Given the description of an element on the screen output the (x, y) to click on. 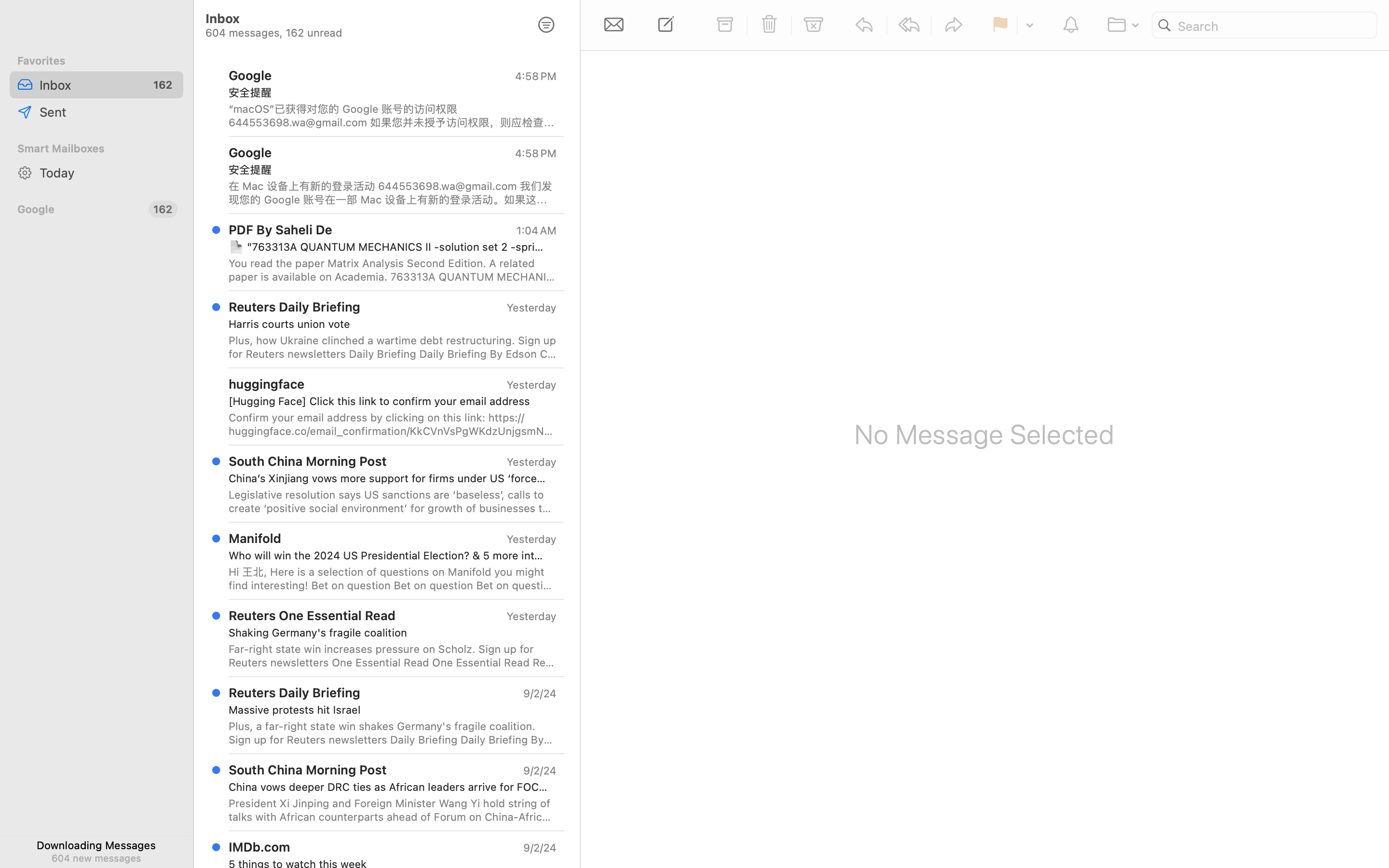
Inbox Element type: AXStaticText (360, 800)
Shaking Germany's fragile coalition Element type: AXStaticText (388, 632)
Legislative resolution says US sanctions are ‘baseless’, calls to create ‘positive social environment’ for growth of businesses targeted. - South China Morning Post, SCMP, SCMP Today: Intl Edition - Legislative resolution says US sanctions are ‘baseless’, calls to create ‘positive social environment’ for growth of businesses targeted. Tuesday 3rd September, 2024 China politics & diplomacy ChinaChina’s Xinjiang vows more support for firms under US ‘forced labour’ sanctions3 Sep, 2024 - 04:36 pmLegislative resolution says US sanctions are ‘baseless’, calls to create ‘positive social environment’ for growth of businesses targeted. China11 dead in eastern China, driver detained after bus hits crowd outside school3 Sep, 2024 - 04:43 pm ChinaChinese researchers’ implant genetically modifies brain cells for neuron growth3 Sep, 2024 - 04:06 pm Featured Podcast3. Millennials, GenZ and hire education Video Of The Day China and Singapore embark on bigger joint navy exercise as South China Sea ten Element type: AXStaticText (392, 501)
China vows deeper DRC ties as African leaders arrive for FOCAC meetings Element type: AXStaticText (388, 786)
Plus, how Ukraine clinched a wartime debt restructuring. Sign up for Reuters newsletters Daily Briefing Daily Briefing By Edson Caldas Kamala Harris said that US Steel should remain in domestic hands, making a pitch to working-class voters in Pennsylvania who are also being courted by her rival Donald Trump. Elsewhere, we cover Britain's partial suspension of arms export licenses to Israel, and a slump in Intel's share price. Plus, why South Korea's beloved Kimchi is at risk. Today's Top News Kamala Harris with Joe Biden's first appearance together at a rally since she became the Democratic nominee. REUTERS/Quinn Glabicki US election Democratic presidential candidate Kamala Harris used campaign events in Michigan and Pennsylvania, two battleground states, to court the crucial labor vote. Harris has neutralized Donald Trump's edge on the economy among Hispanic voters, and her 13 percentage point lead within that group reflects the fact they vastly prefer her approach to healthcare and c Element type: AXStaticText (392, 346)
